Given the description of an element on the screen output the (x, y) to click on. 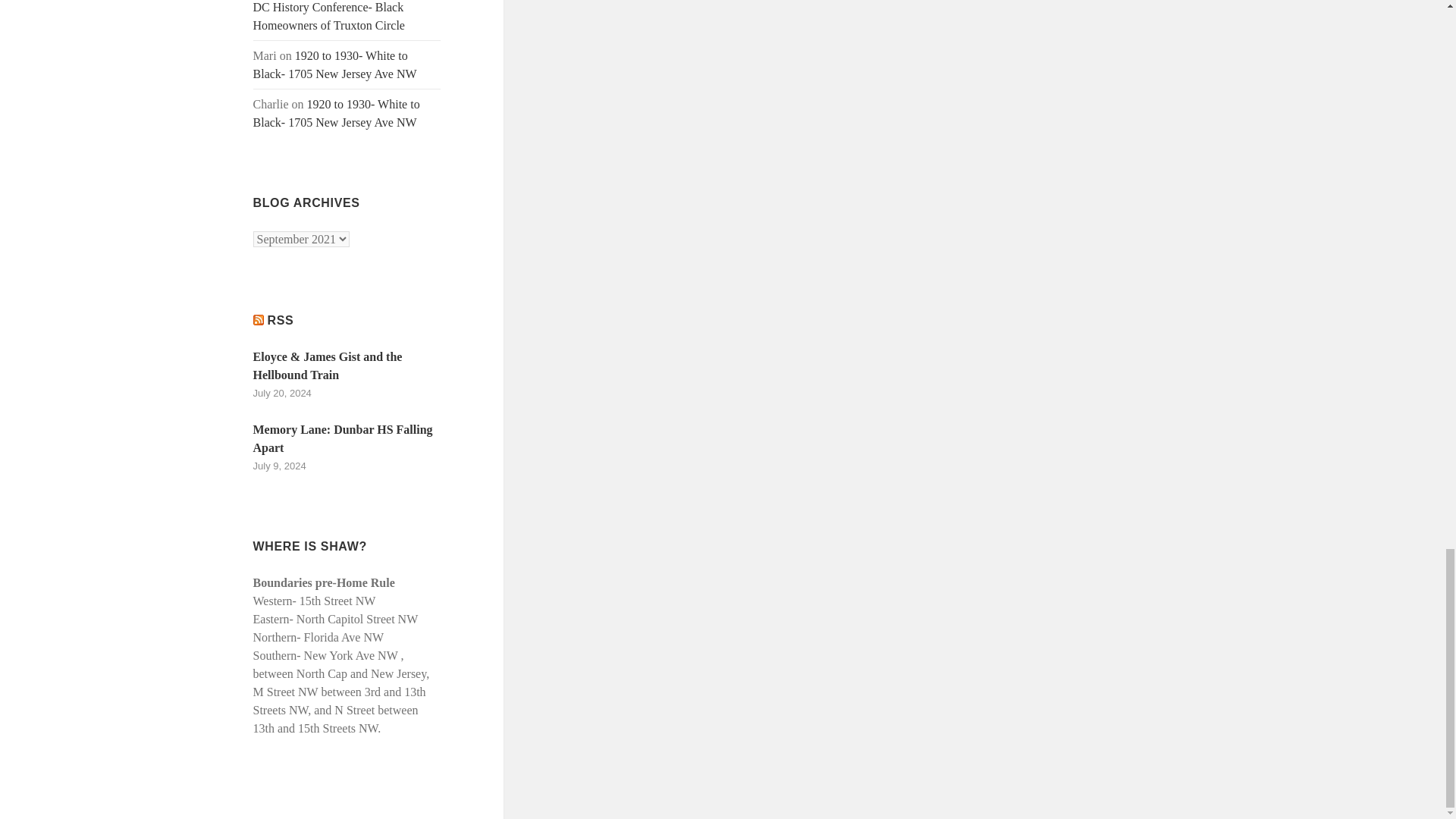
1920 to 1930- White to Black- 1705 New Jersey Ave NW (334, 64)
